Given the description of an element on the screen output the (x, y) to click on. 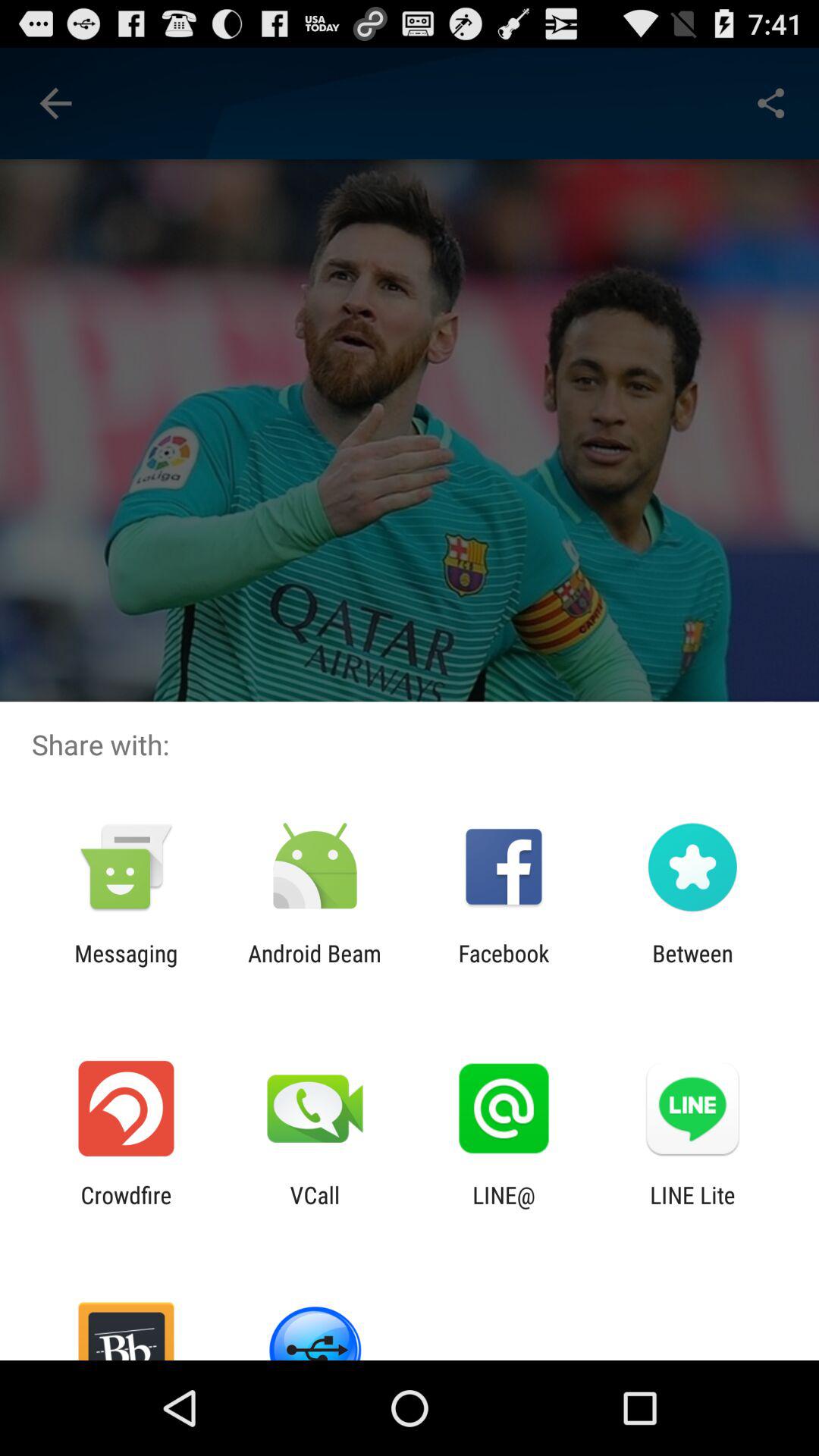
turn on app next to the line@ (315, 1208)
